Given the description of an element on the screen output the (x, y) to click on. 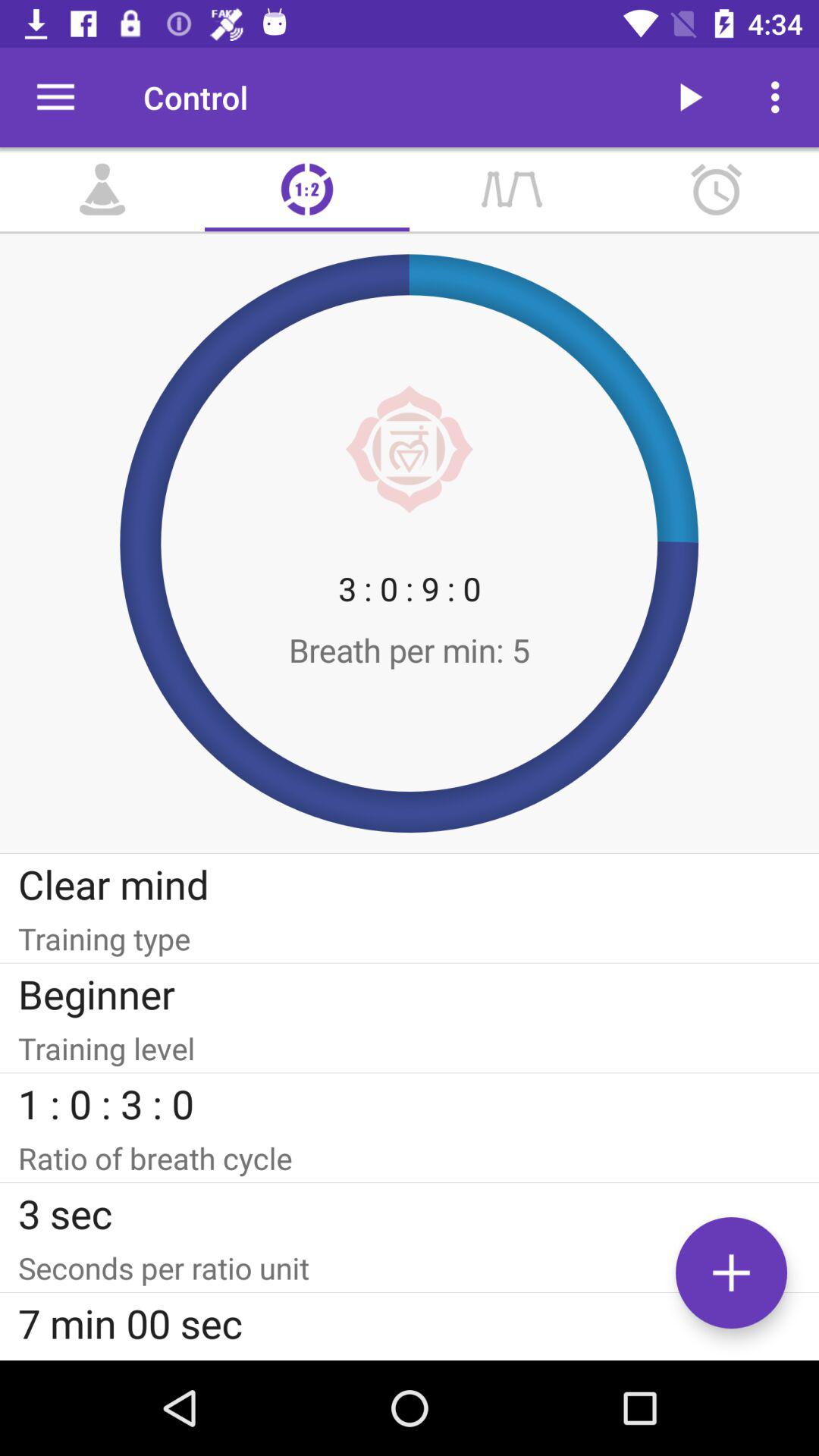
open item below training level icon (409, 1103)
